Given the description of an element on the screen output the (x, y) to click on. 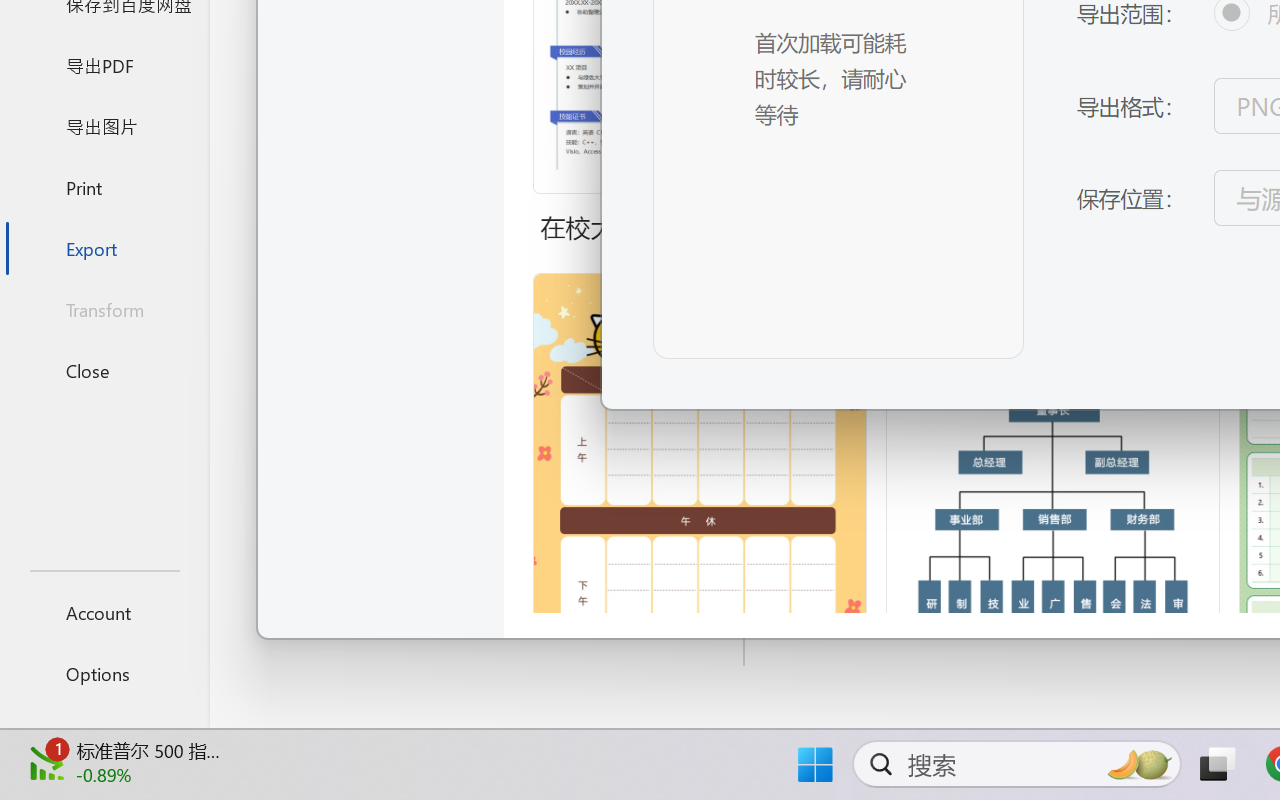
Options (104, 673)
Transform (104, 309)
Print (104, 186)
Account (104, 612)
